Given the description of an element on the screen output the (x, y) to click on. 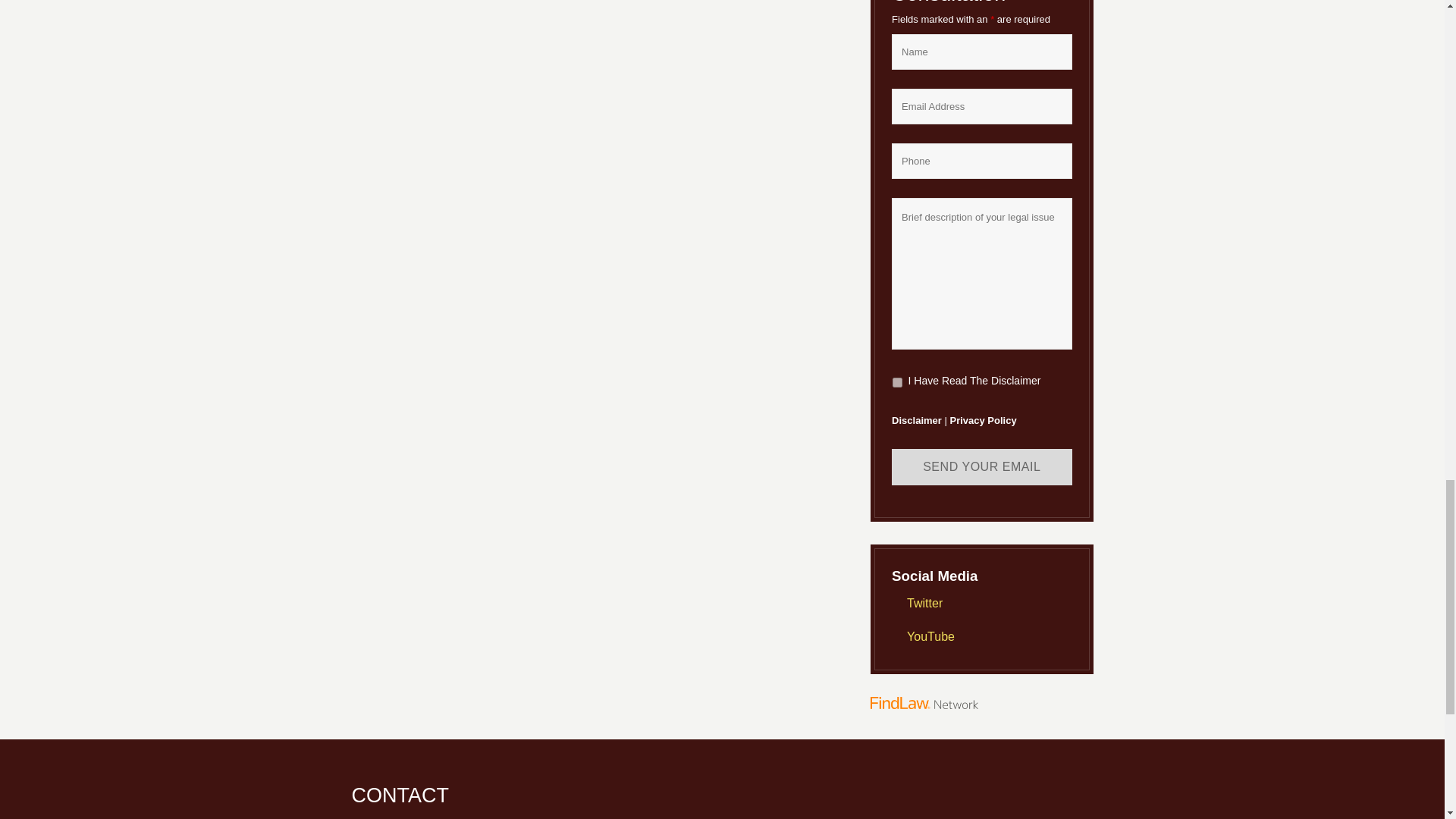
I Have Read The Disclaimer (897, 382)
Send Your Email (981, 466)
